Given the description of an element on the screen output the (x, y) to click on. 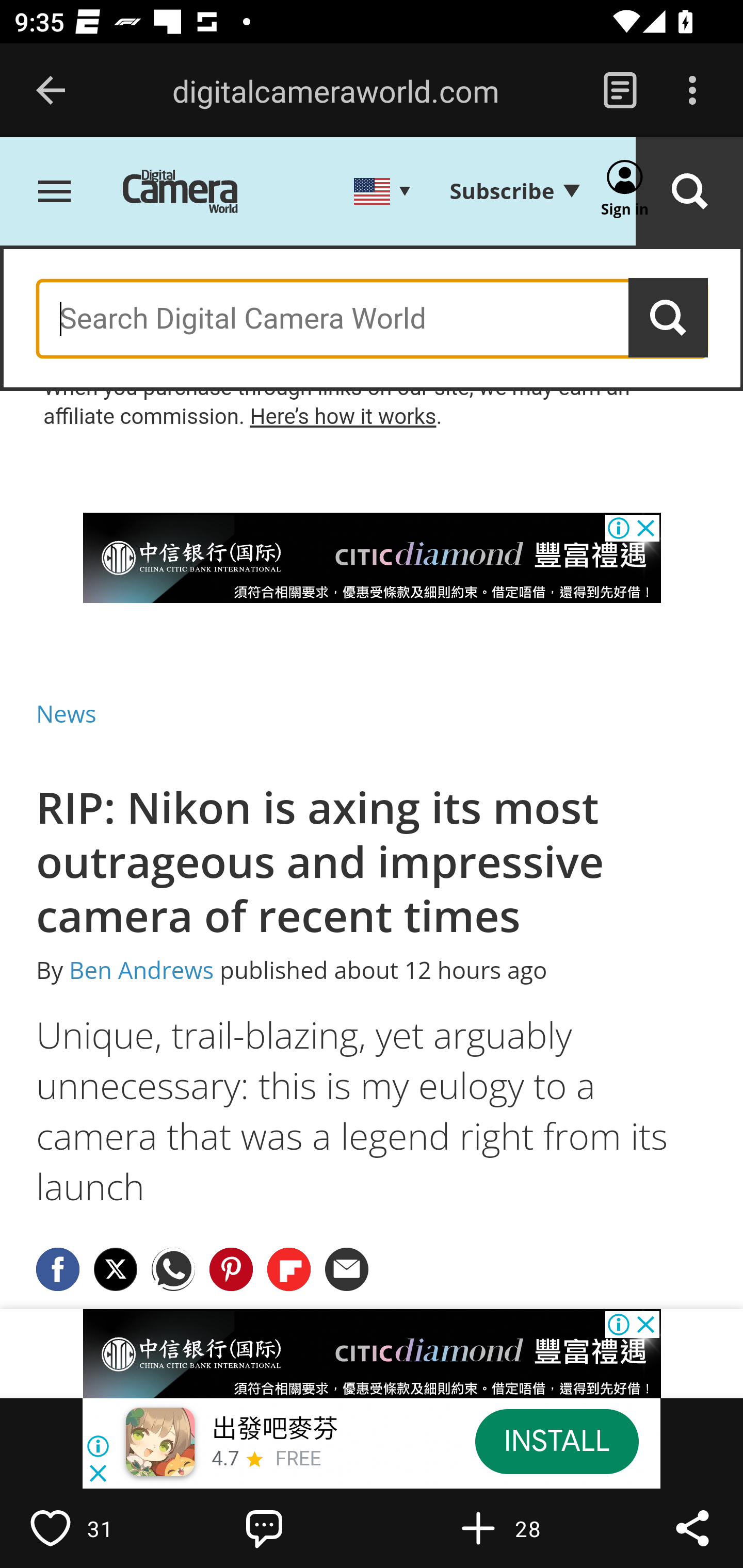
Back (50, 90)
Reader View (619, 90)
Options (692, 90)
Open menu (54, 192)
Digital Camera World (194, 192)
Sign in (625, 192)
Search (689, 192)
Subscribe (514, 190)
Search (668, 318)
Here’s how it works (342, 415)
Return to News News (66, 712)
Ben Andrews (141, 970)
Share this page on Facebook (58, 1268)
 Share this page on Twitter (115, 1268)
Share this page on WhatsApp (173, 1268)
Share this page on Pinterest (230, 1268)
Share this page on Flipboard (289, 1268)
Share this page on your Email  (347, 1268)
INSTALL (556, 1441)
出發吧麥芬 (274, 1429)
Like 31 (93, 1528)
Write a comment… (307, 1528)
Flip into Magazine 28 (521, 1528)
Share (692, 1528)
